Given the description of an element on the screen output the (x, y) to click on. 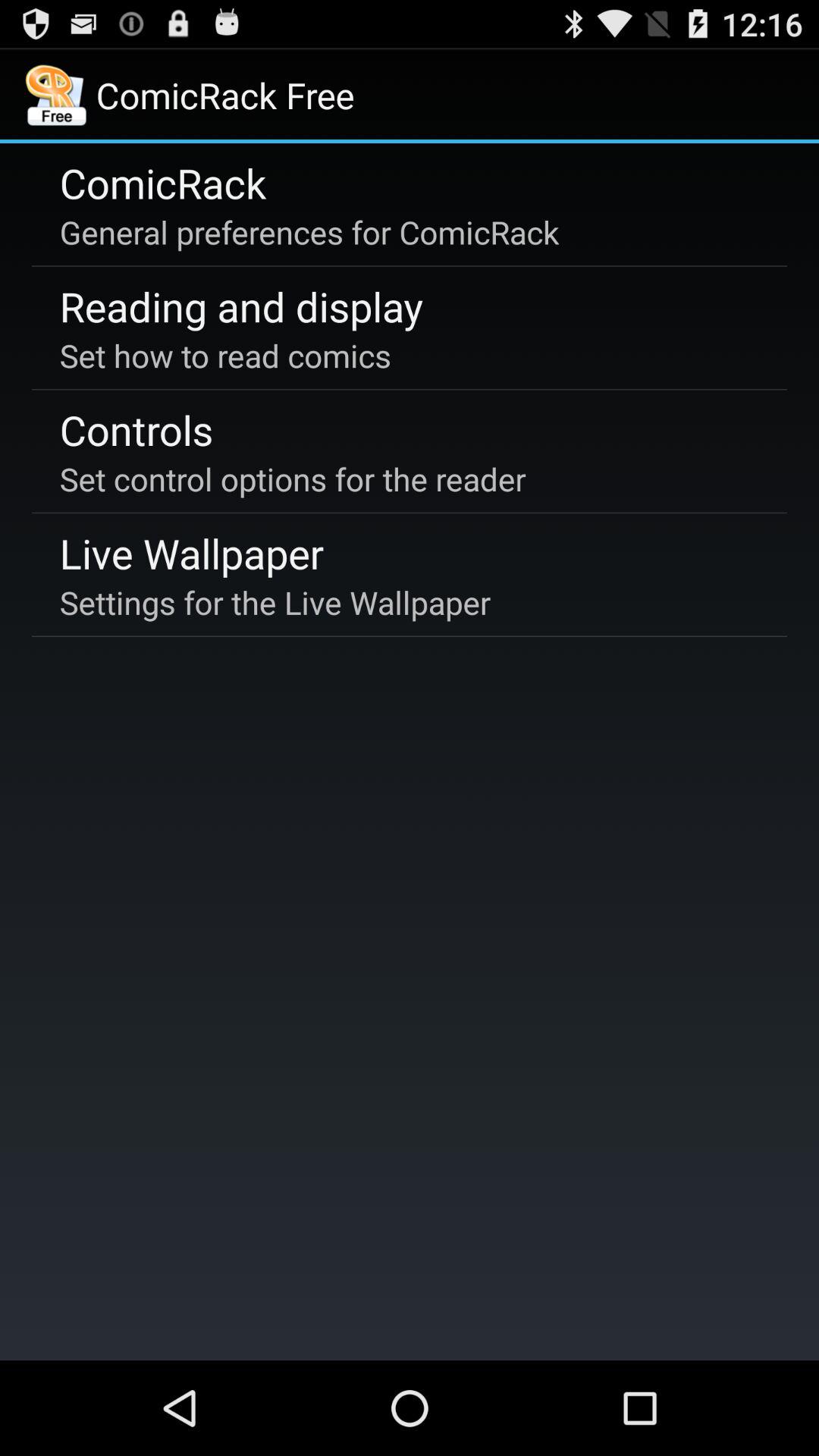
flip until reading and display (241, 305)
